Given the description of an element on the screen output the (x, y) to click on. 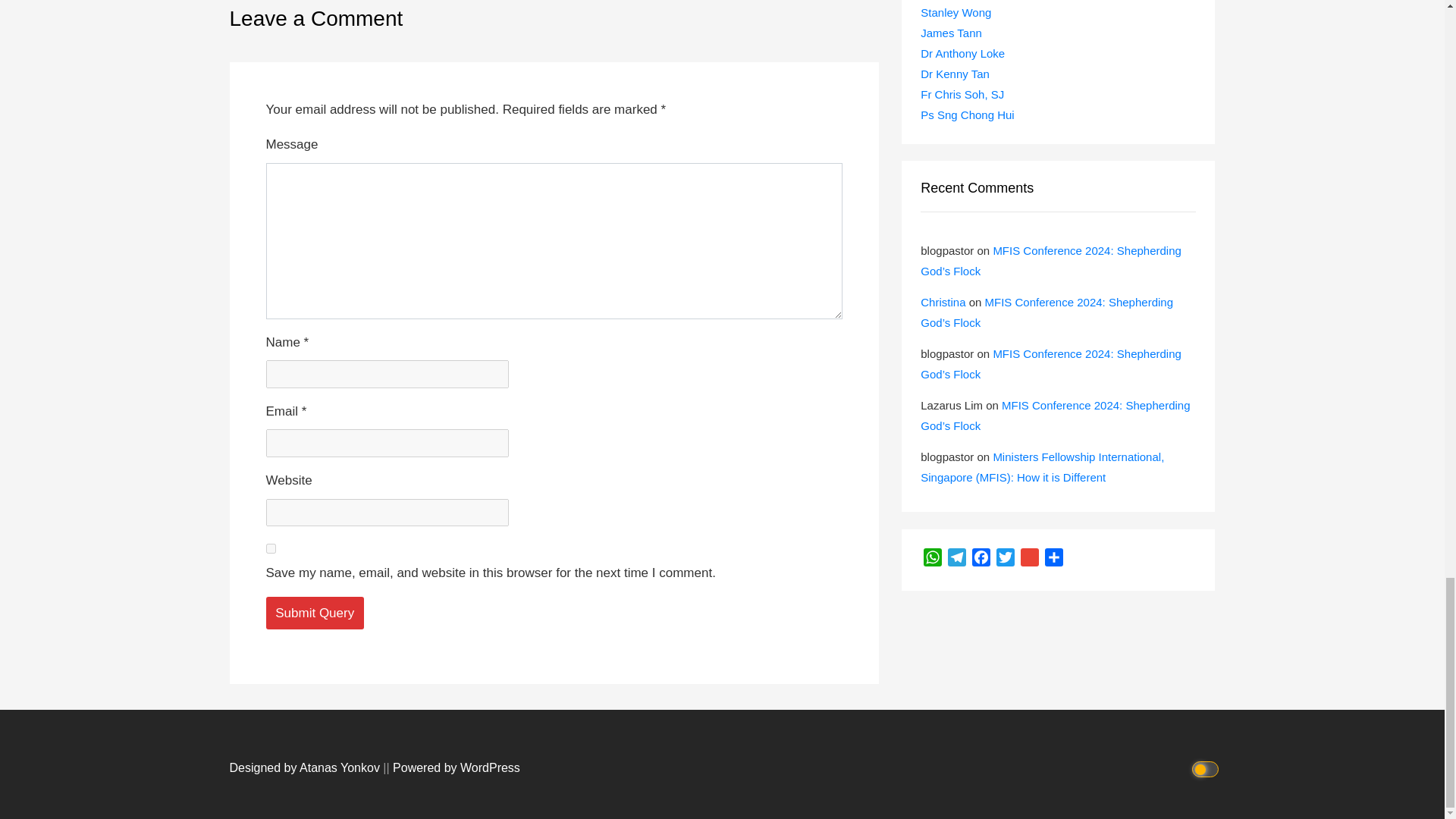
Twitter (1004, 559)
WhatsApp (932, 559)
yes (269, 548)
Facebook (980, 559)
Gmail (1029, 559)
Submit Query (313, 613)
Telegram (956, 559)
Submit Query (313, 613)
